Given the description of an element on the screen output the (x, y) to click on. 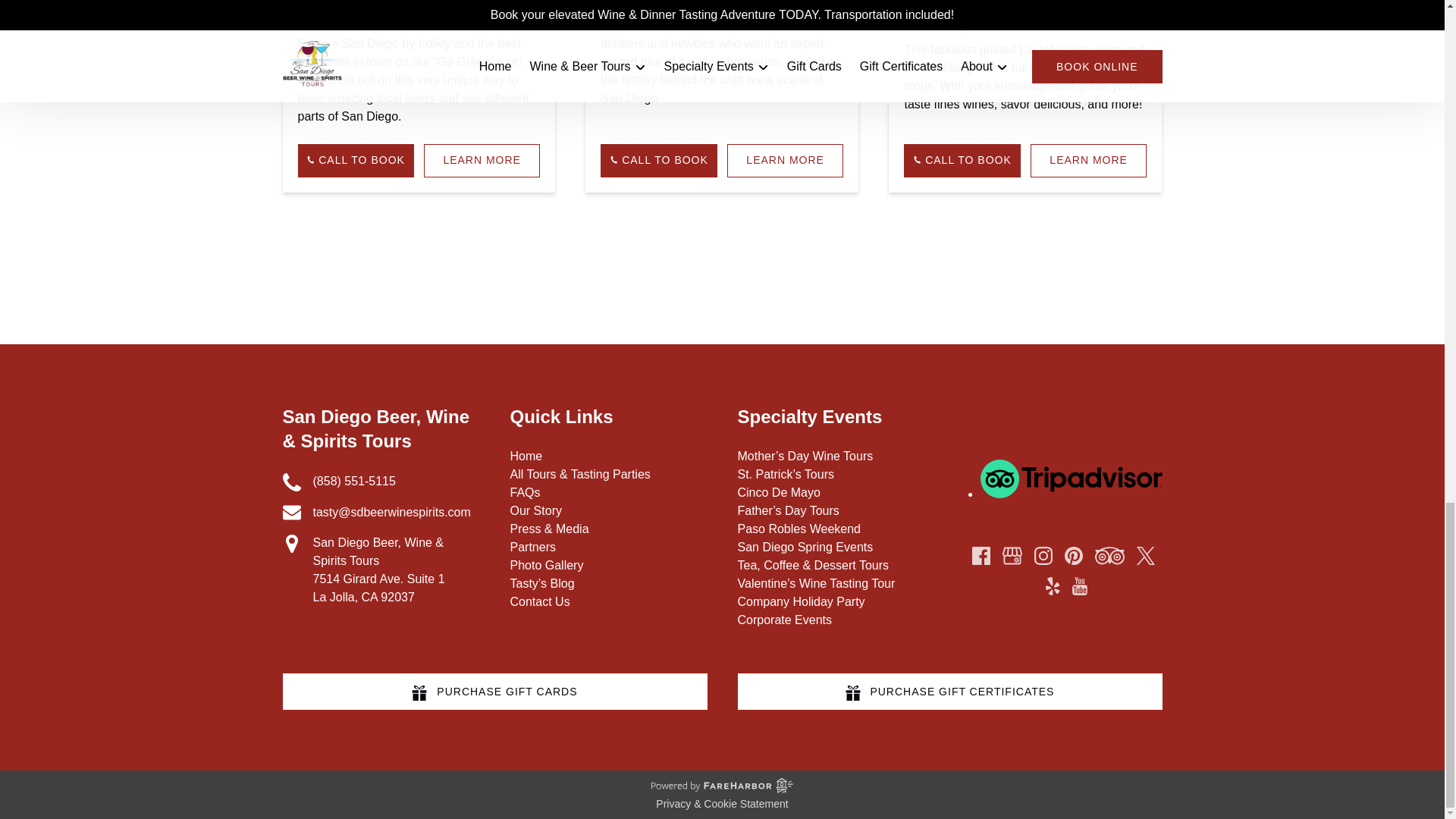
Phone (290, 482)
Map Marker (290, 543)
Envelope (290, 512)
